Given the description of an element on the screen output the (x, y) to click on. 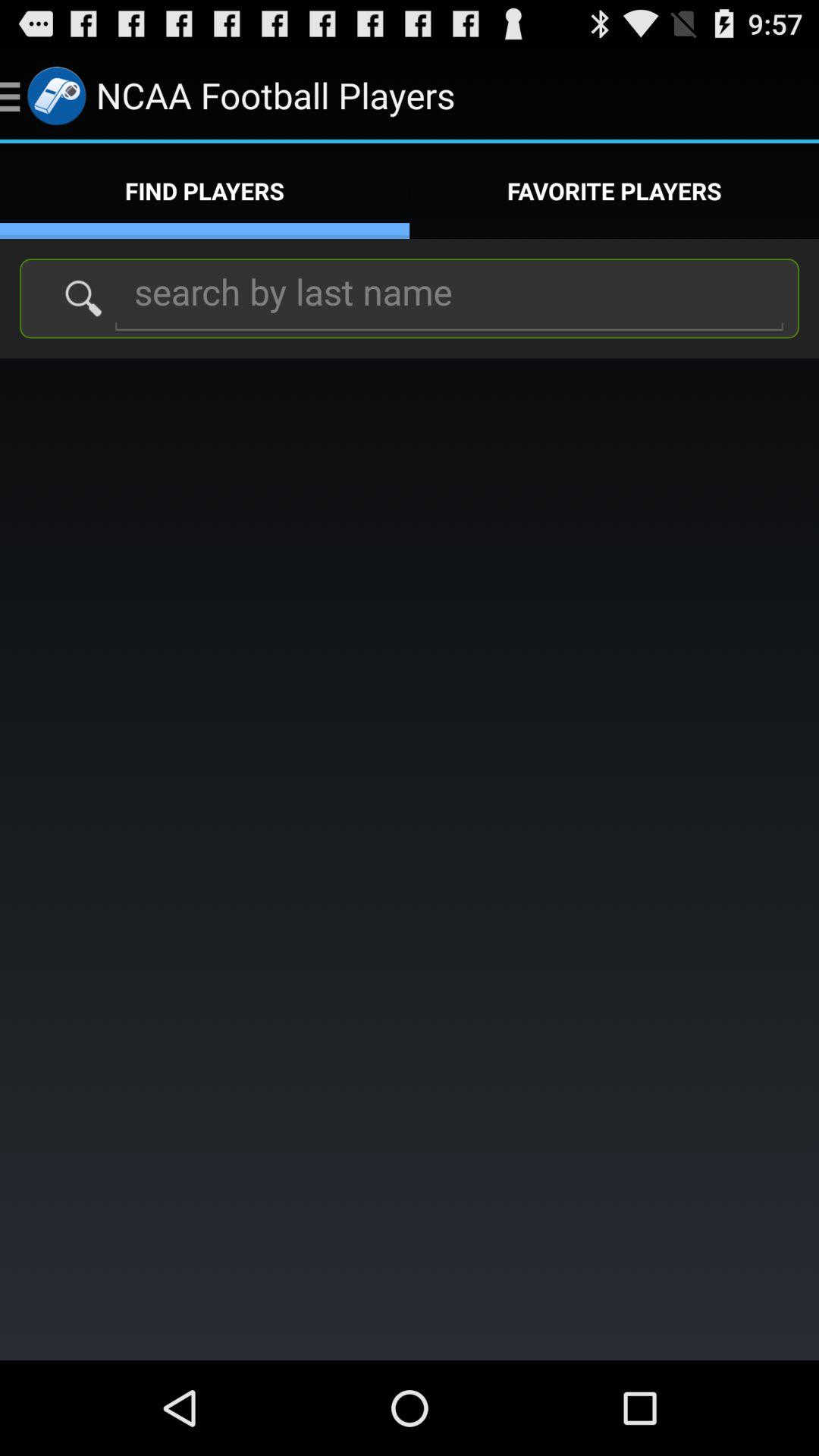
tap find players item (204, 190)
